Given the description of an element on the screen output the (x, y) to click on. 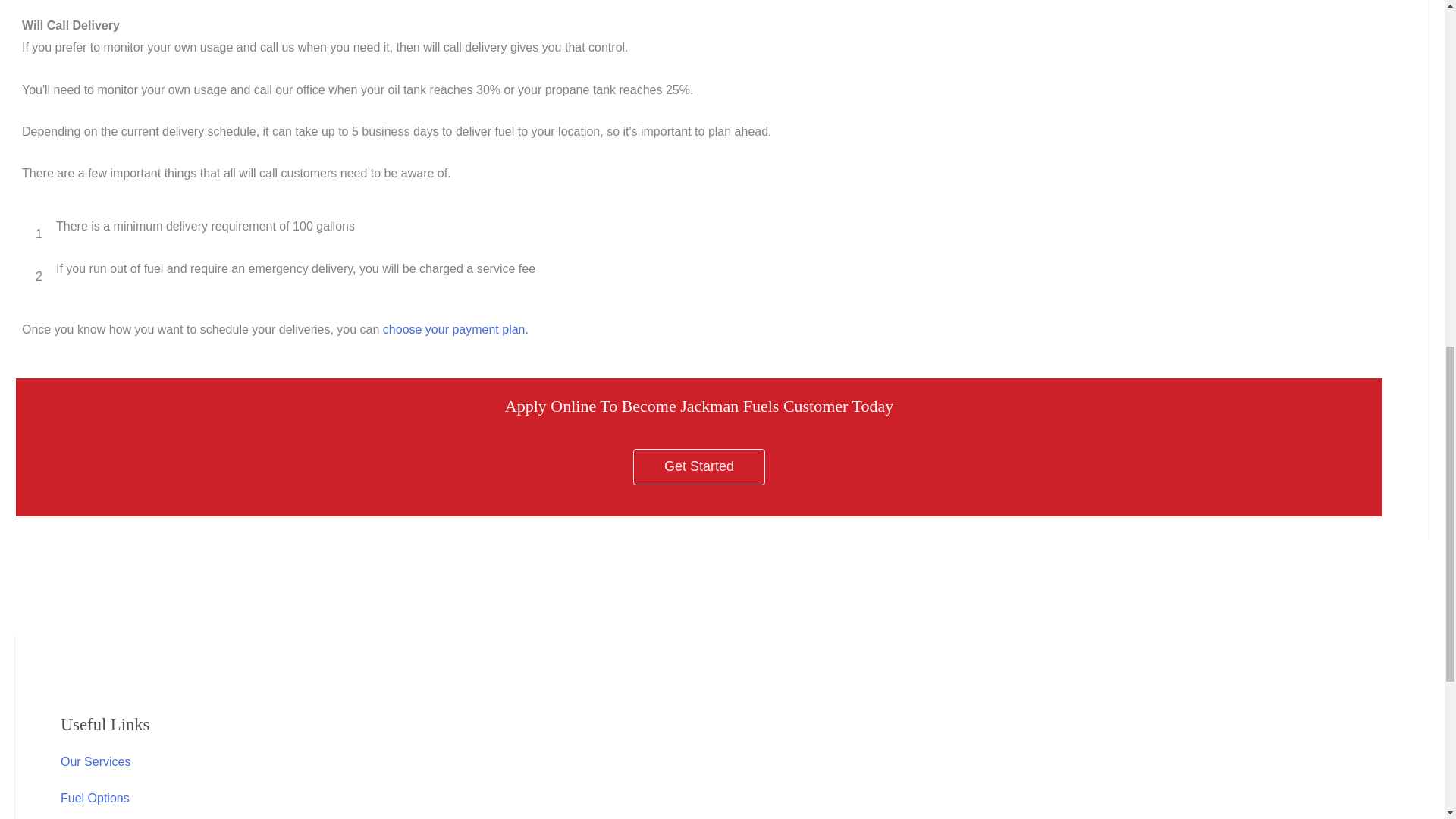
choose your payment plan. (455, 328)
Get Started (699, 466)
Fuel Options (95, 797)
Our Services (96, 761)
